Given the description of an element on the screen output the (x, y) to click on. 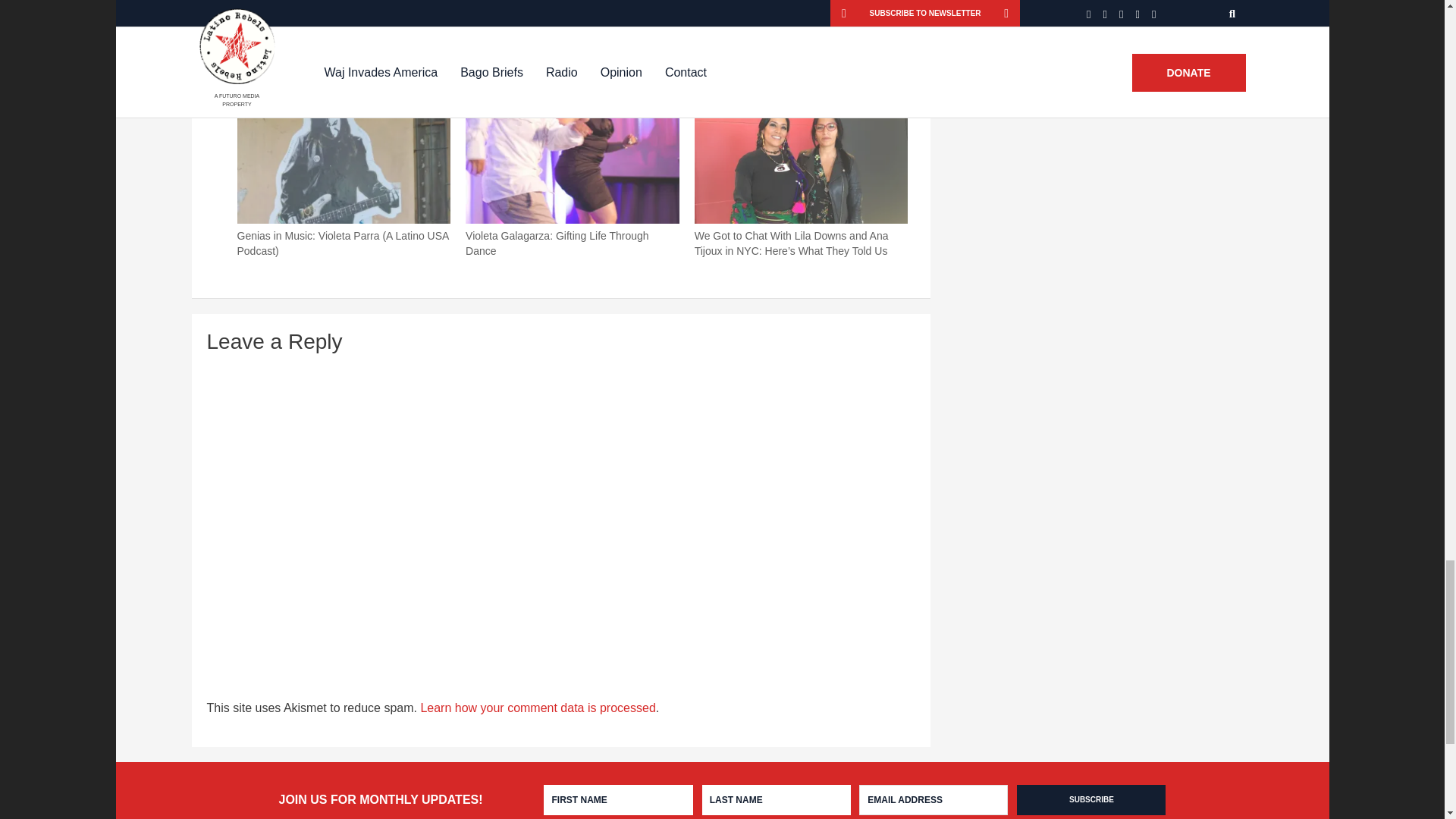
Click to share on Reddit (418, 7)
Facebook (274, 7)
Reddit (418, 7)
Click to email a link to a friend (631, 7)
Tumblr (564, 7)
Twitter (350, 7)
Subscribe (1091, 799)
Click to share on Tumblr (564, 7)
LinkedIn (490, 7)
Click to share on LinkedIn (490, 7)
Click to share on Twitter (350, 7)
Click to share on Facebook (274, 7)
